Given the description of an element on the screen output the (x, y) to click on. 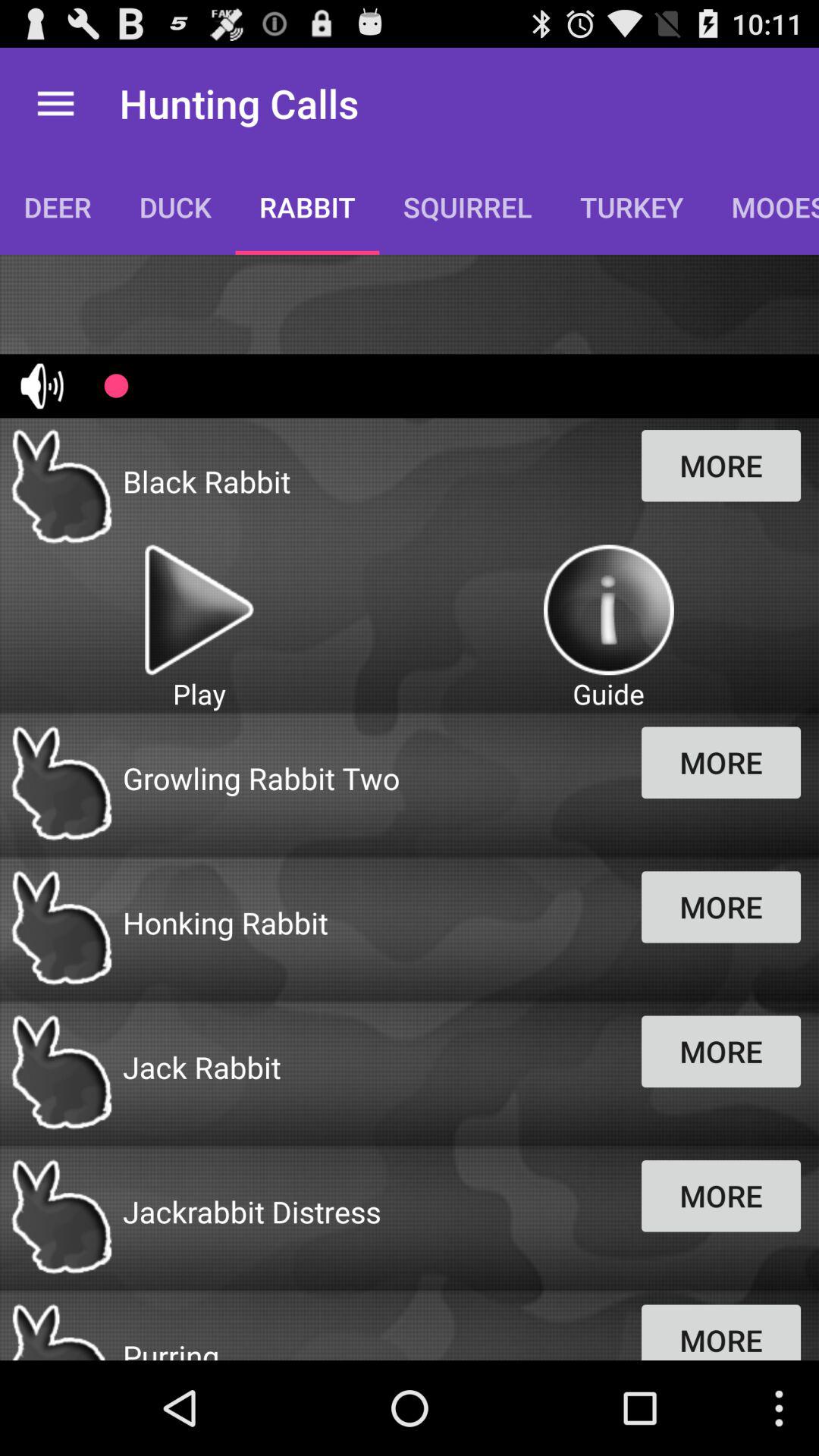
play (199, 609)
